Given the description of an element on the screen output the (x, y) to click on. 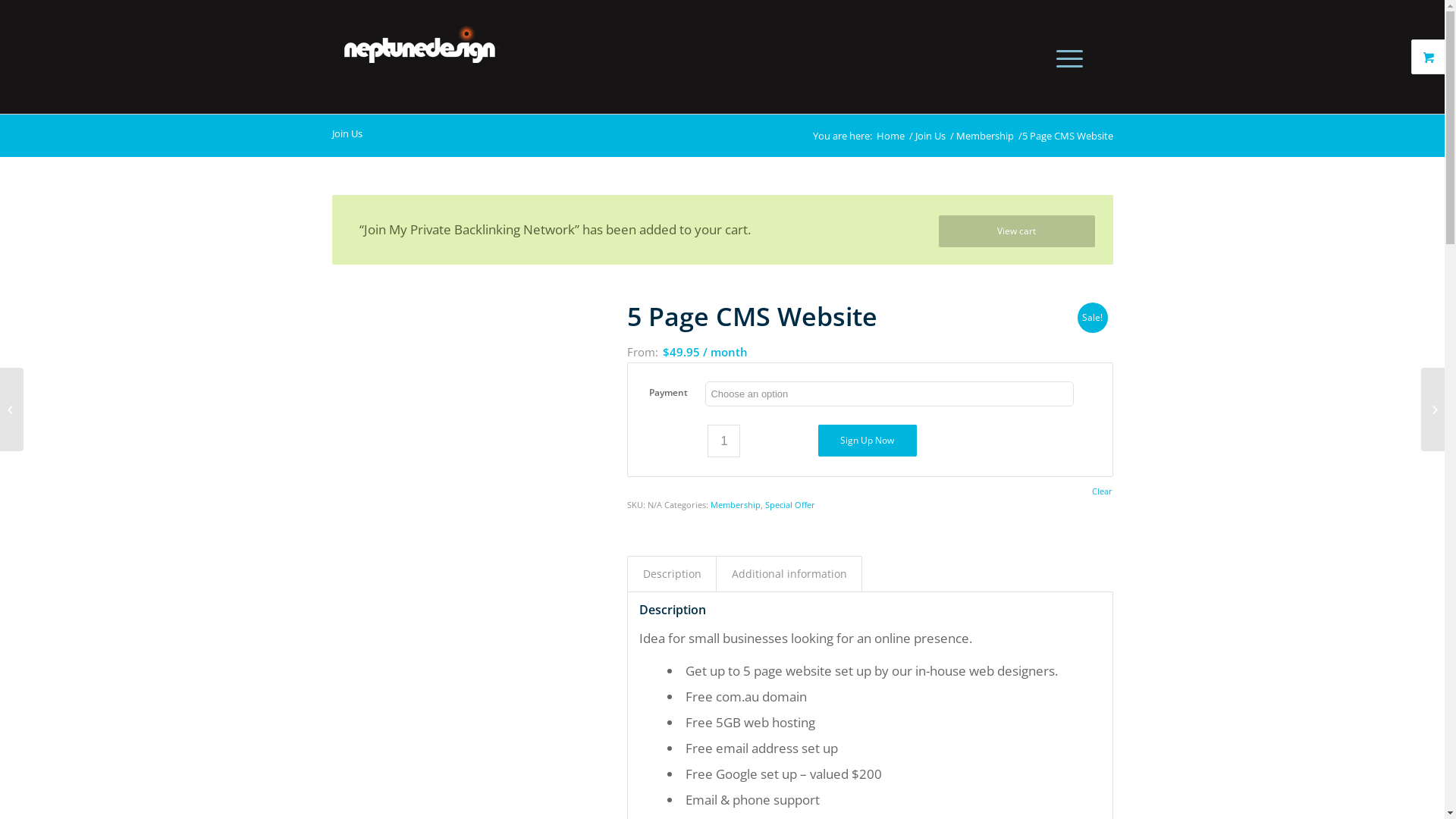
Home Element type: text (889, 135)
Membership Element type: text (735, 504)
Additional information Element type: text (788, 573)
Clear Element type: text (1102, 490)
Sign Up Now Element type: text (867, 440)
Join Us Element type: text (347, 133)
Join Us Element type: text (930, 135)
Membership Element type: text (984, 135)
Description Element type: text (671, 573)
Special Offer Element type: text (790, 504)
Qty Element type: hover (723, 440)
View cart Element type: text (1016, 231)
